Given the description of an element on the screen output the (x, y) to click on. 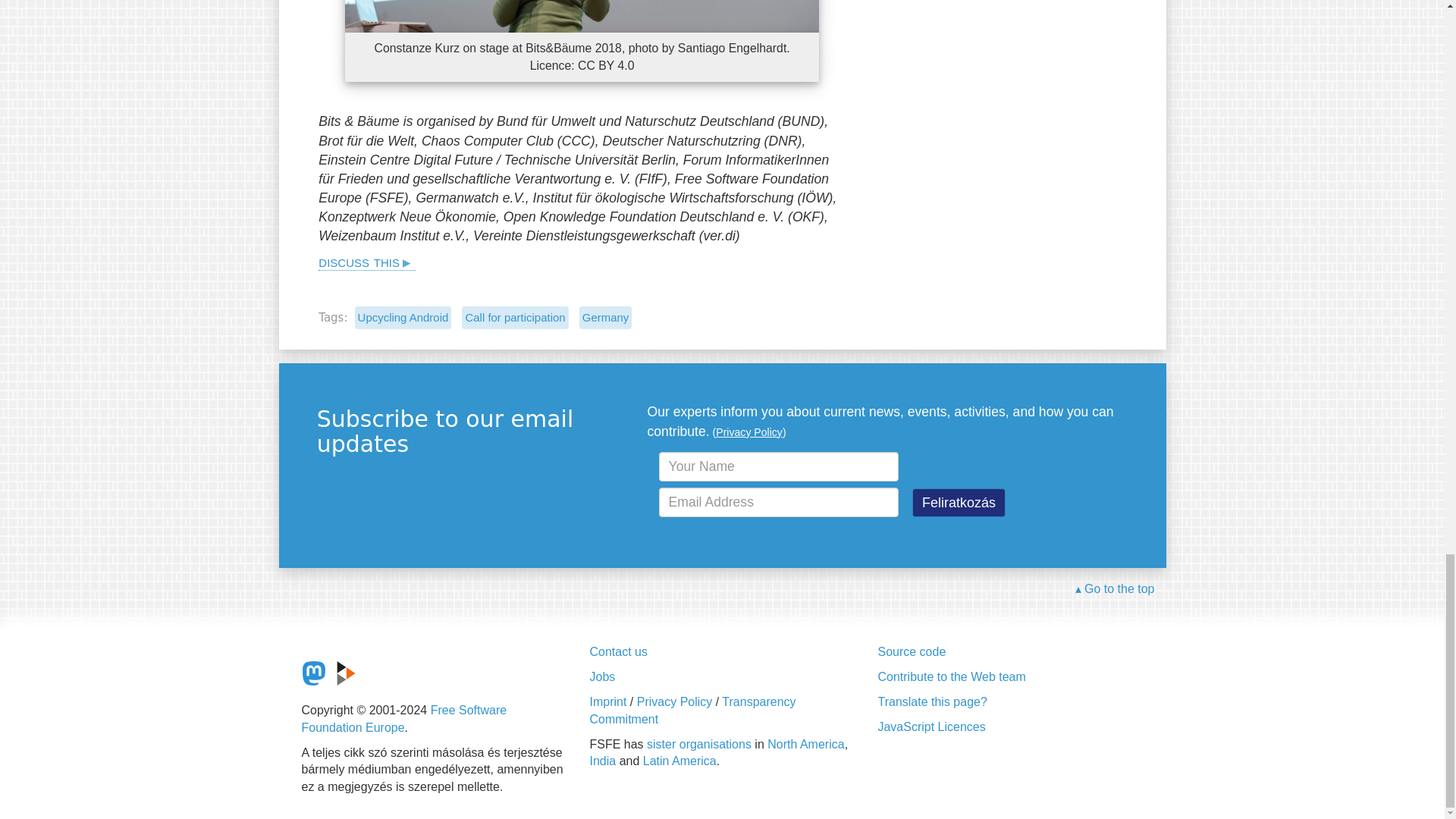
discuss this (366, 261)
Germany (605, 317)
Peertube (345, 672)
Privacy Policy (749, 431)
Upcycling Android (403, 317)
Mastodon (313, 672)
Call for participation (514, 317)
